Given the description of an element on the screen output the (x, y) to click on. 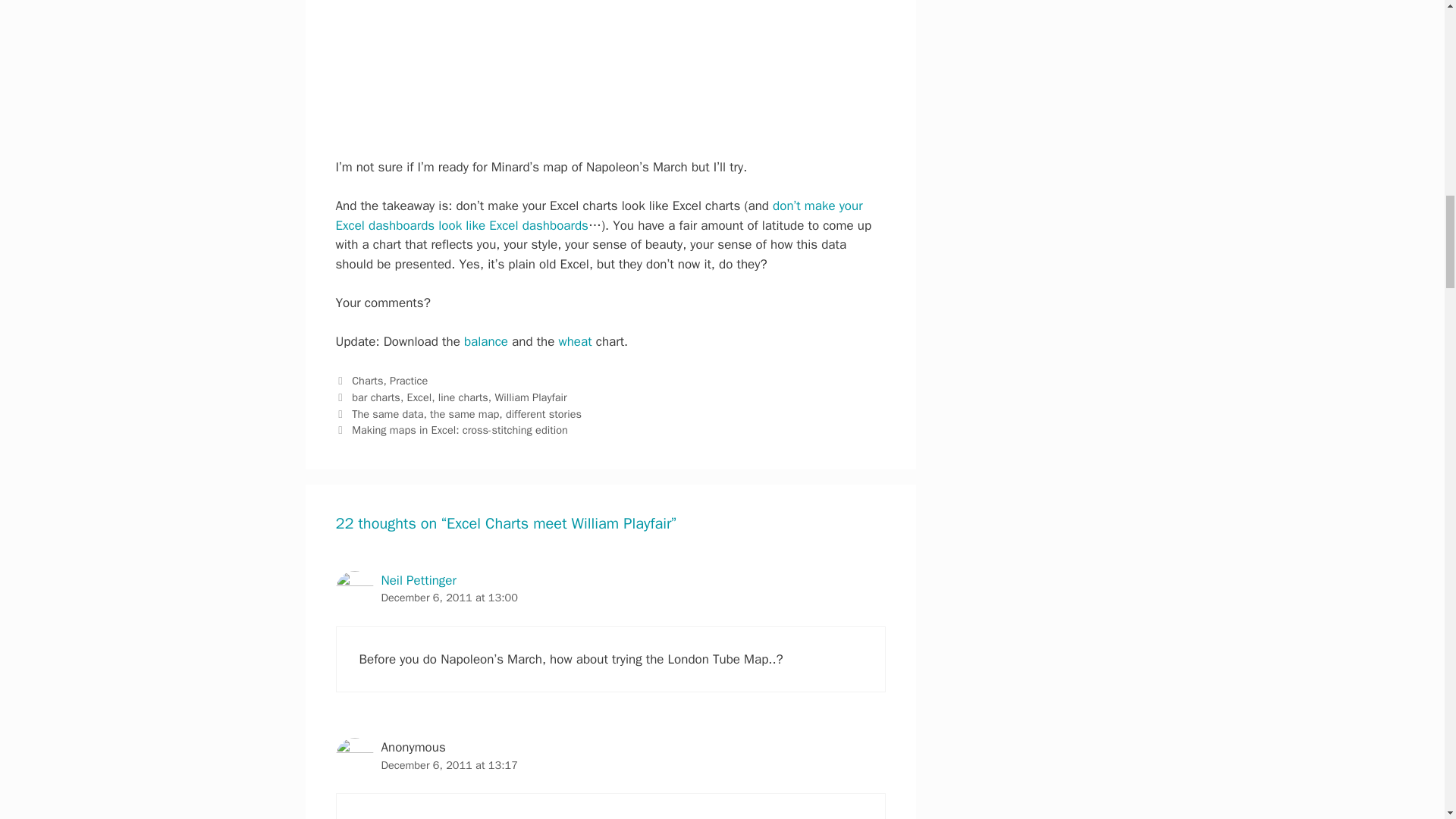
Previous (457, 413)
Neil Pettinger (417, 580)
balance (486, 341)
wheat (574, 341)
William Playfair (530, 397)
The same data, the same map, different stories (466, 413)
william-playfair-excel-exports-original (609, 69)
line charts (462, 397)
bar charts (376, 397)
December 6, 2011 at 13:17 (448, 765)
